Given the description of an element on the screen output the (x, y) to click on. 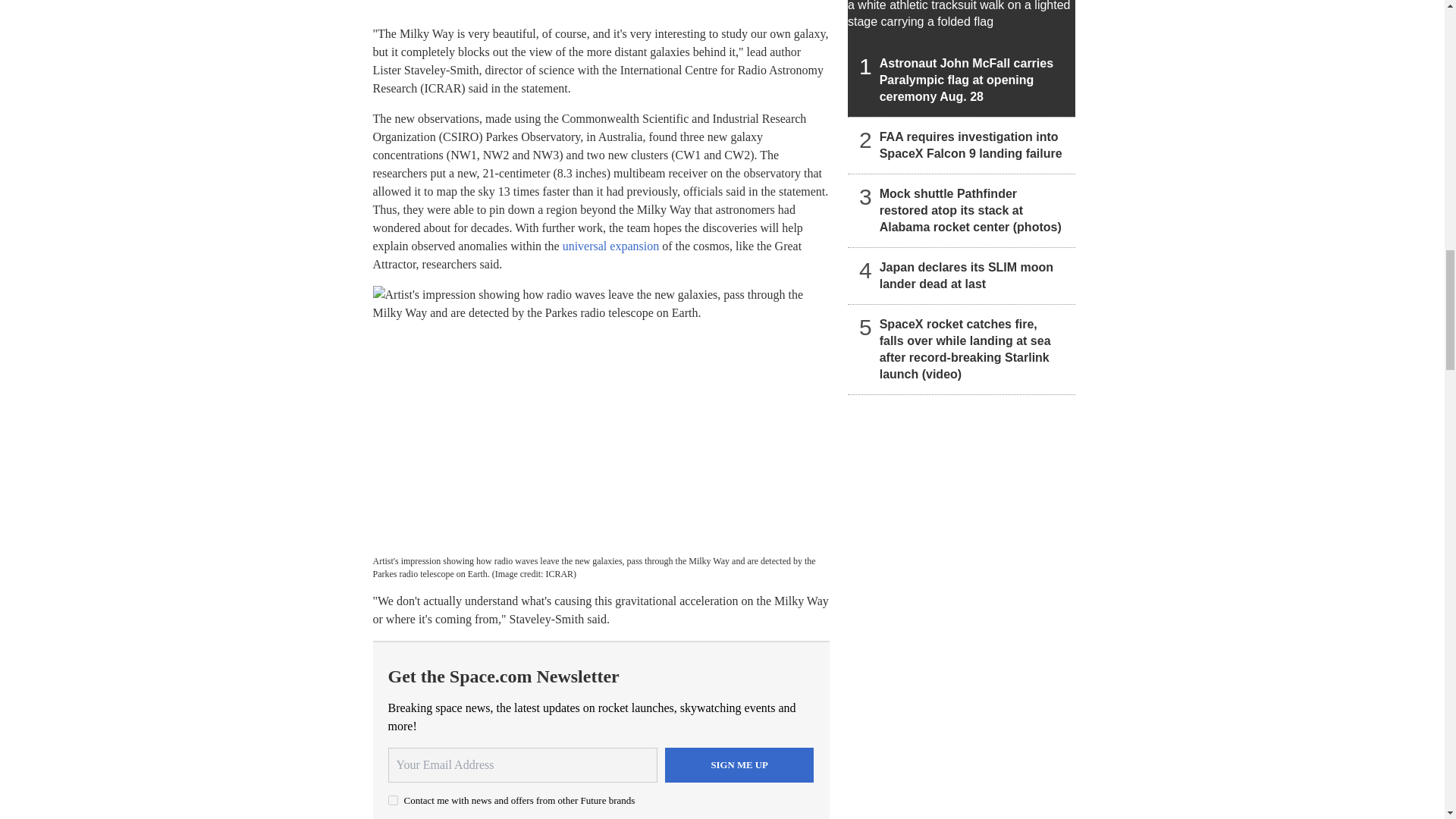
on (392, 800)
Sign me up (739, 764)
